Given the description of an element on the screen output the (x, y) to click on. 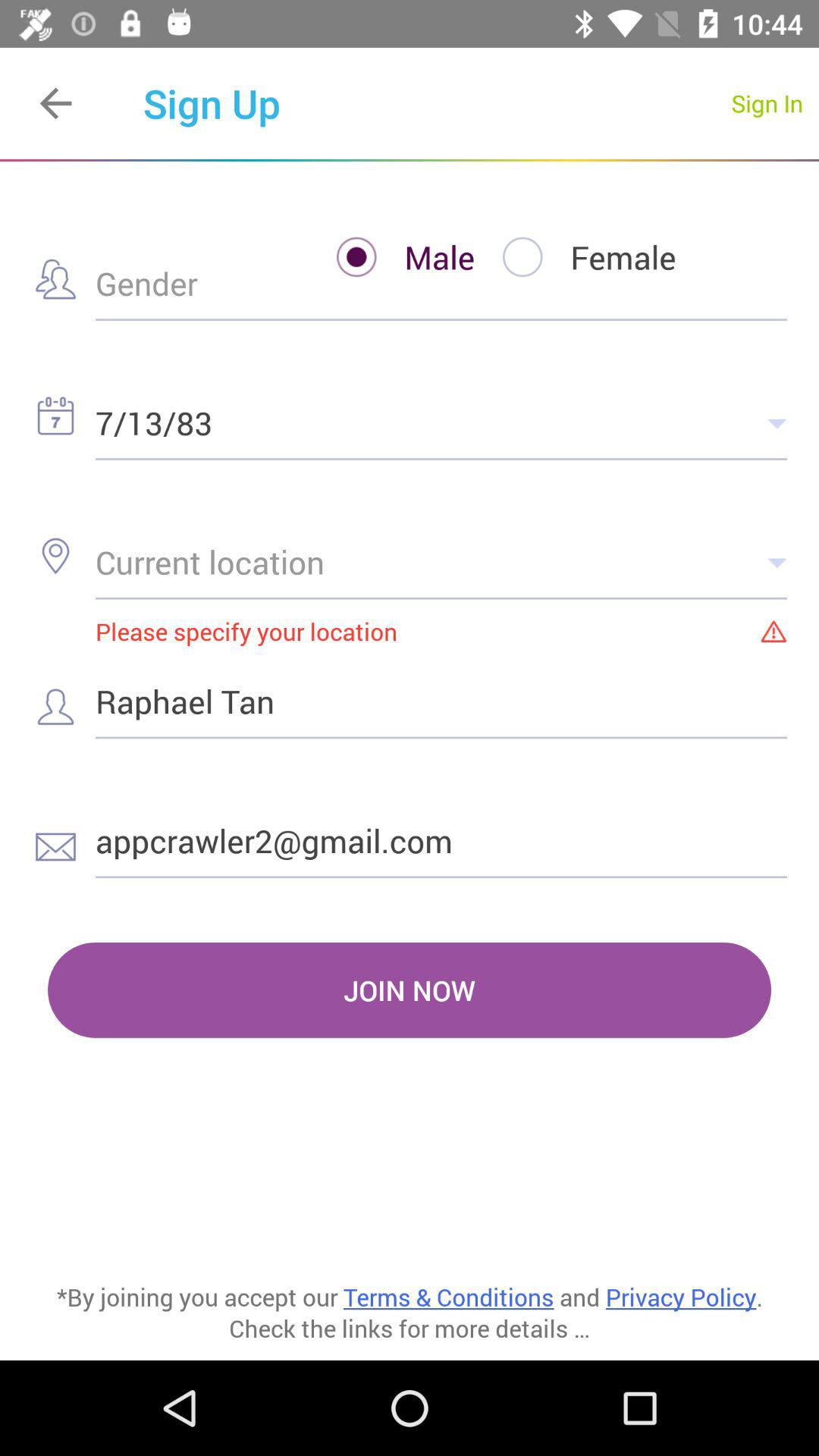
click icon above appcrawler2@gmail.com item (441, 700)
